Given the description of an element on the screen output the (x, y) to click on. 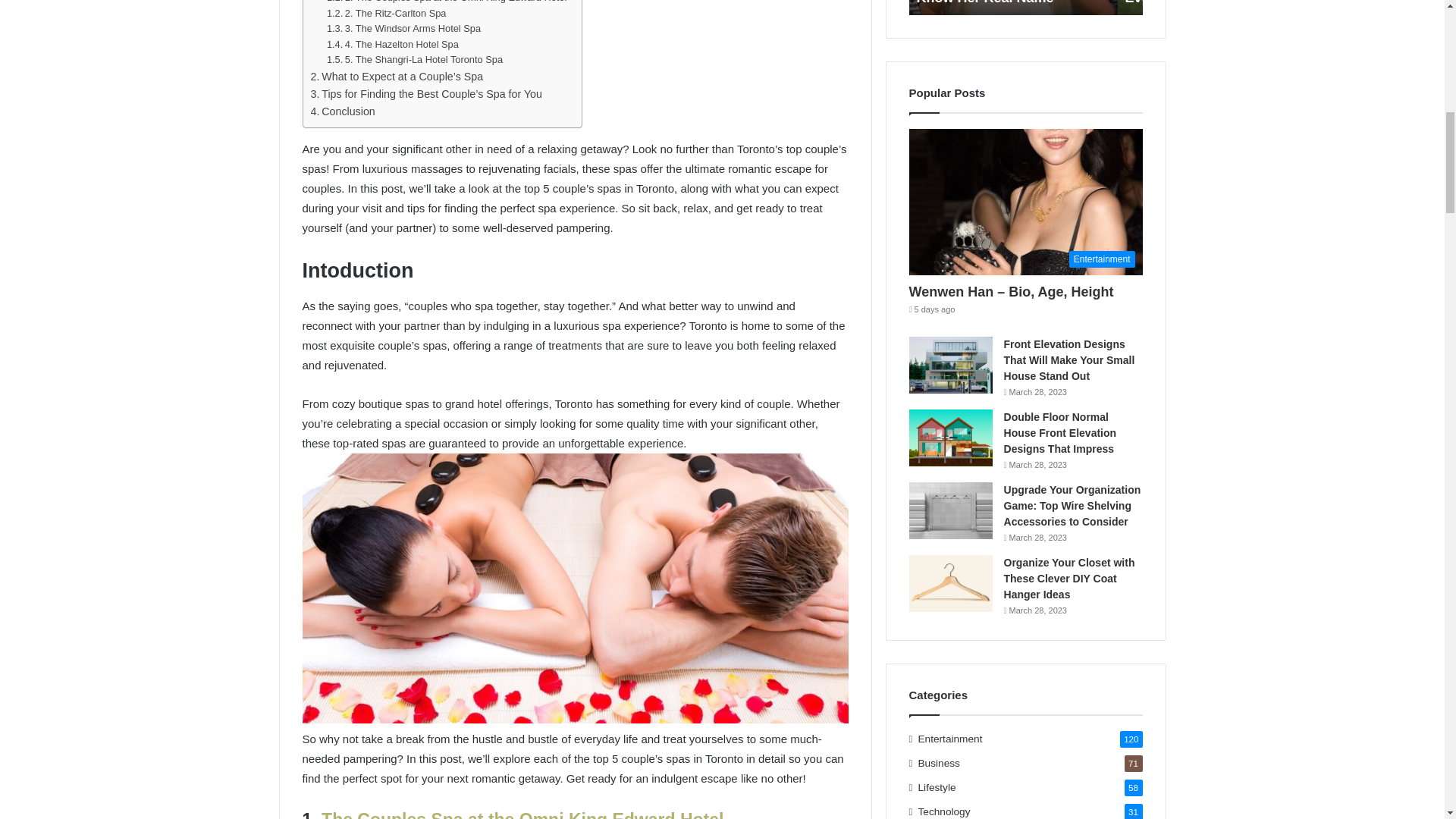
The Couples Spa at the Omni King Edward Hotel (522, 814)
5. The Shangri-La Hotel Toronto Spa (414, 59)
5. The Shangri-La Hotel Toronto Spa (414, 59)
4. The Hazelton Hotel Spa (392, 44)
3. The Windsor Arms Hotel Spa (403, 28)
3. The Windsor Arms Hotel Spa (403, 28)
2. The Ritz-Carlton Spa (386, 13)
Conclusion (343, 111)
1. The Couples Spa at the Omni King Edward Hotel (446, 2)
Conclusion (343, 111)
1. The Couples Spa at the Omni King Edward Hotel (446, 2)
4. The Hazelton Hotel Spa (392, 44)
2. The Ritz-Carlton Spa (386, 13)
